Given the description of an element on the screen output the (x, y) to click on. 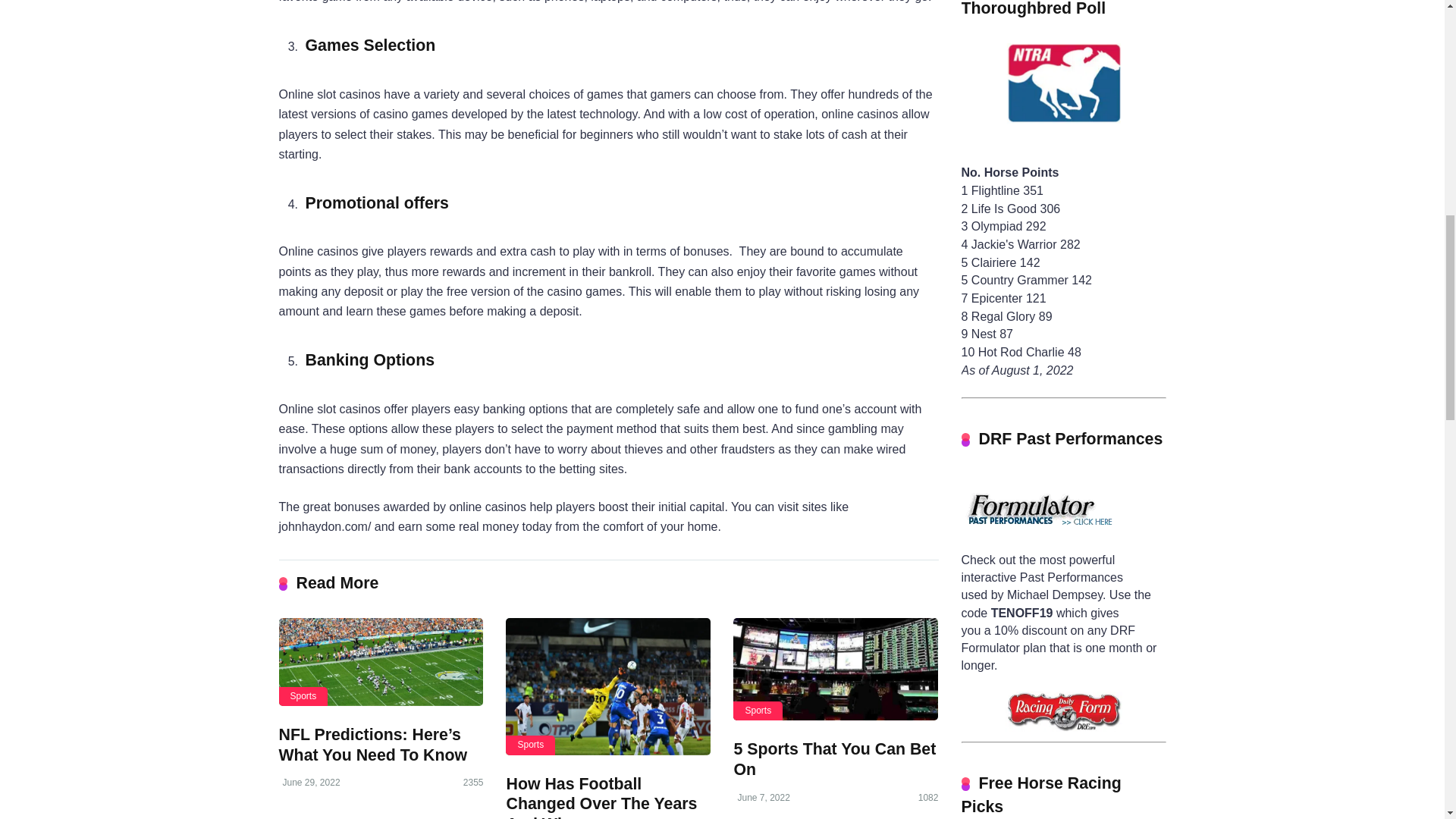
How Has Football Changed Over The Years And Why (601, 796)
How Has Football Changed Over The Years And Why (607, 686)
5 Sports That You Can Bet On (835, 669)
ntra (1063, 103)
5 Sports That You Can Bet On (834, 759)
